Given the description of an element on the screen output the (x, y) to click on. 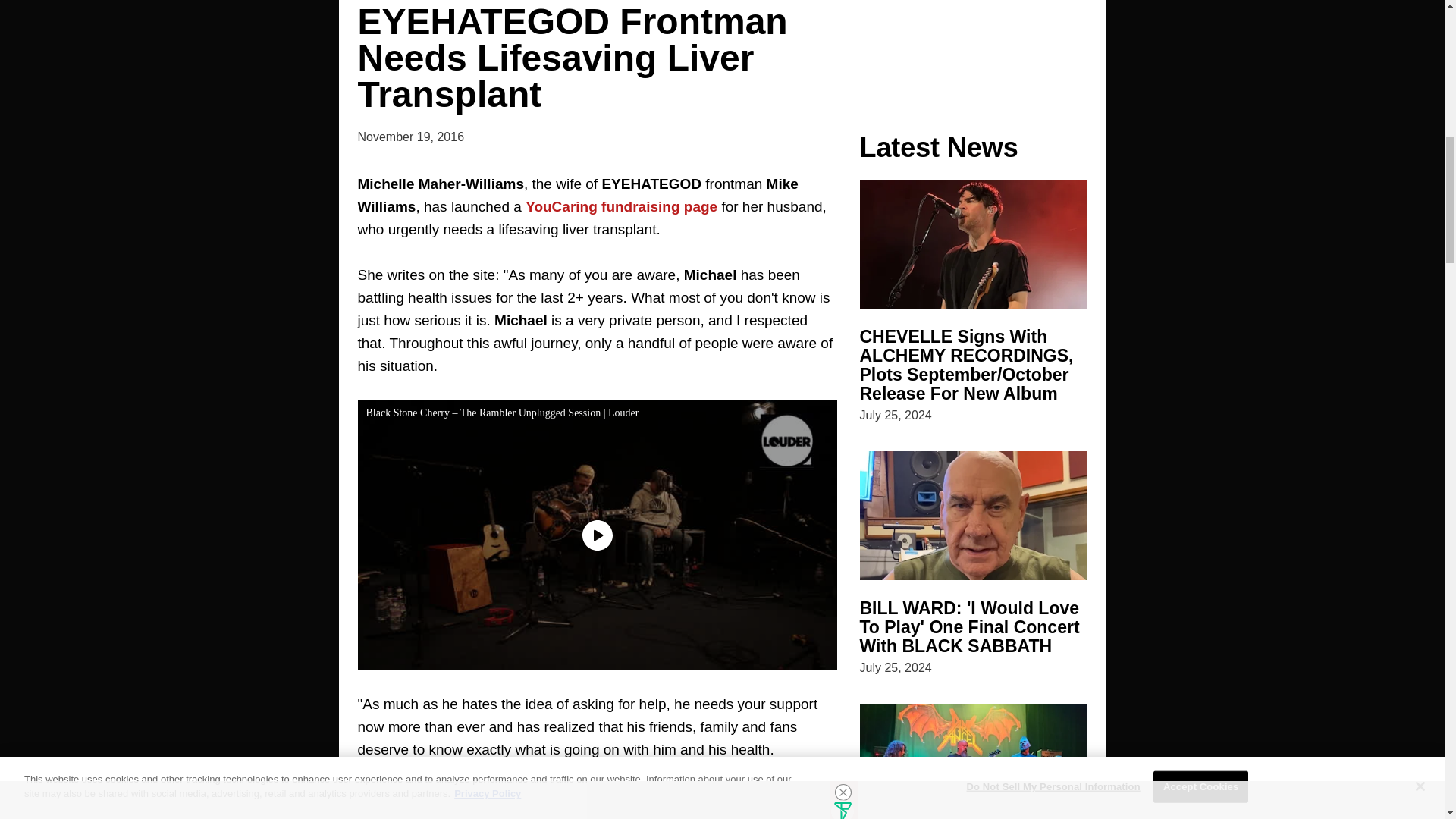
YouCaring fundraising page (621, 206)
